Given the description of an element on the screen output the (x, y) to click on. 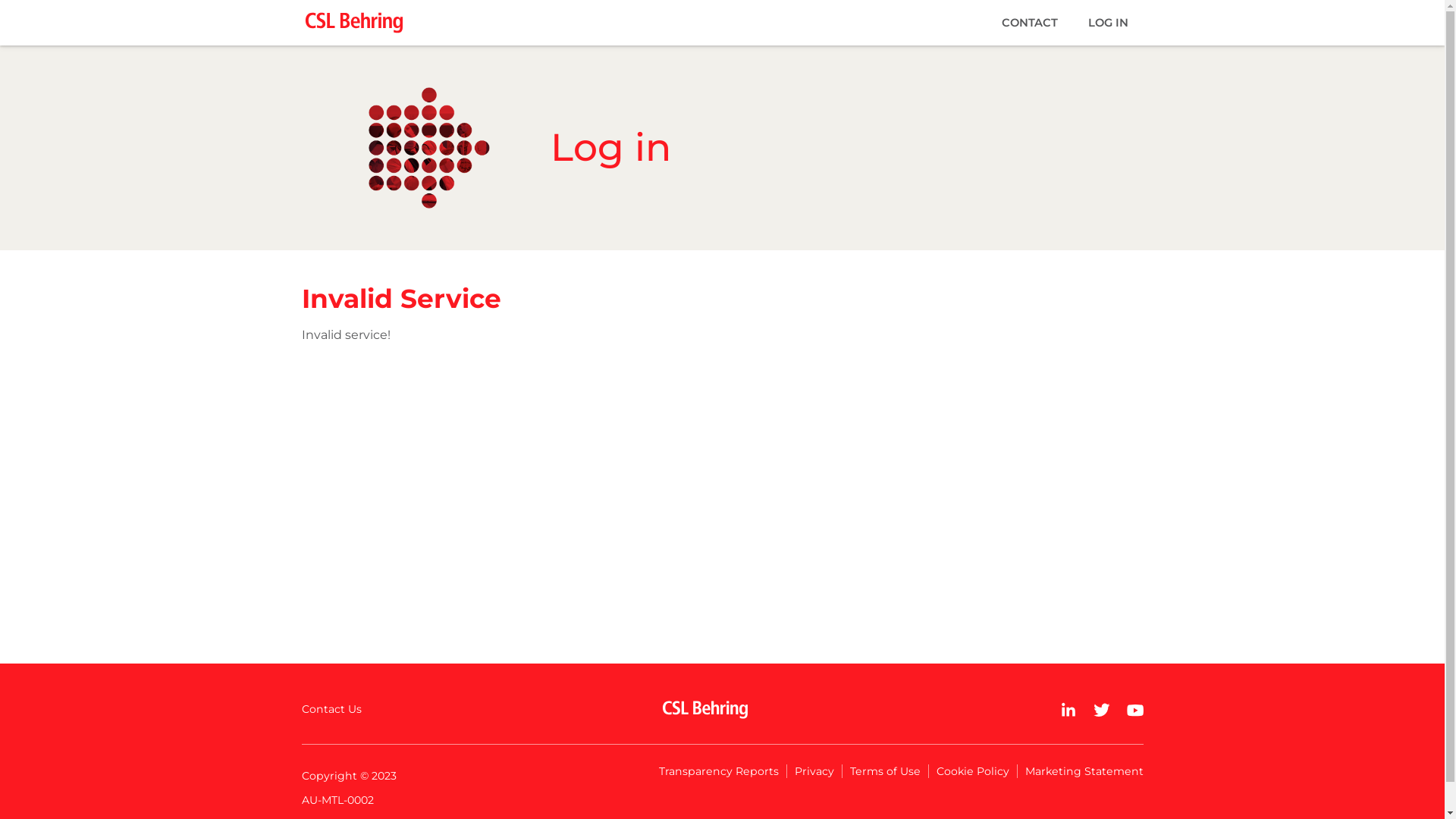
Home Element type: hover (360, 22)
CSL Behring Element type: text (704, 708)
Linkedin Element type: text (1068, 708)
Contact Us Element type: text (334, 708)
Skip to main content Element type: text (0, 0)
Terms of Use Element type: text (884, 771)
YouTube Element type: text (1134, 708)
Transparency Reports Element type: text (718, 771)
CONTACT Element type: text (1028, 22)
LOG IN Element type: text (1107, 22)
Marketing Statement Element type: text (1080, 771)
Cookie Policy Element type: text (972, 771)
Privacy Element type: text (814, 771)
Twitter Element type: text (1101, 708)
